Given the description of an element on the screen output the (x, y) to click on. 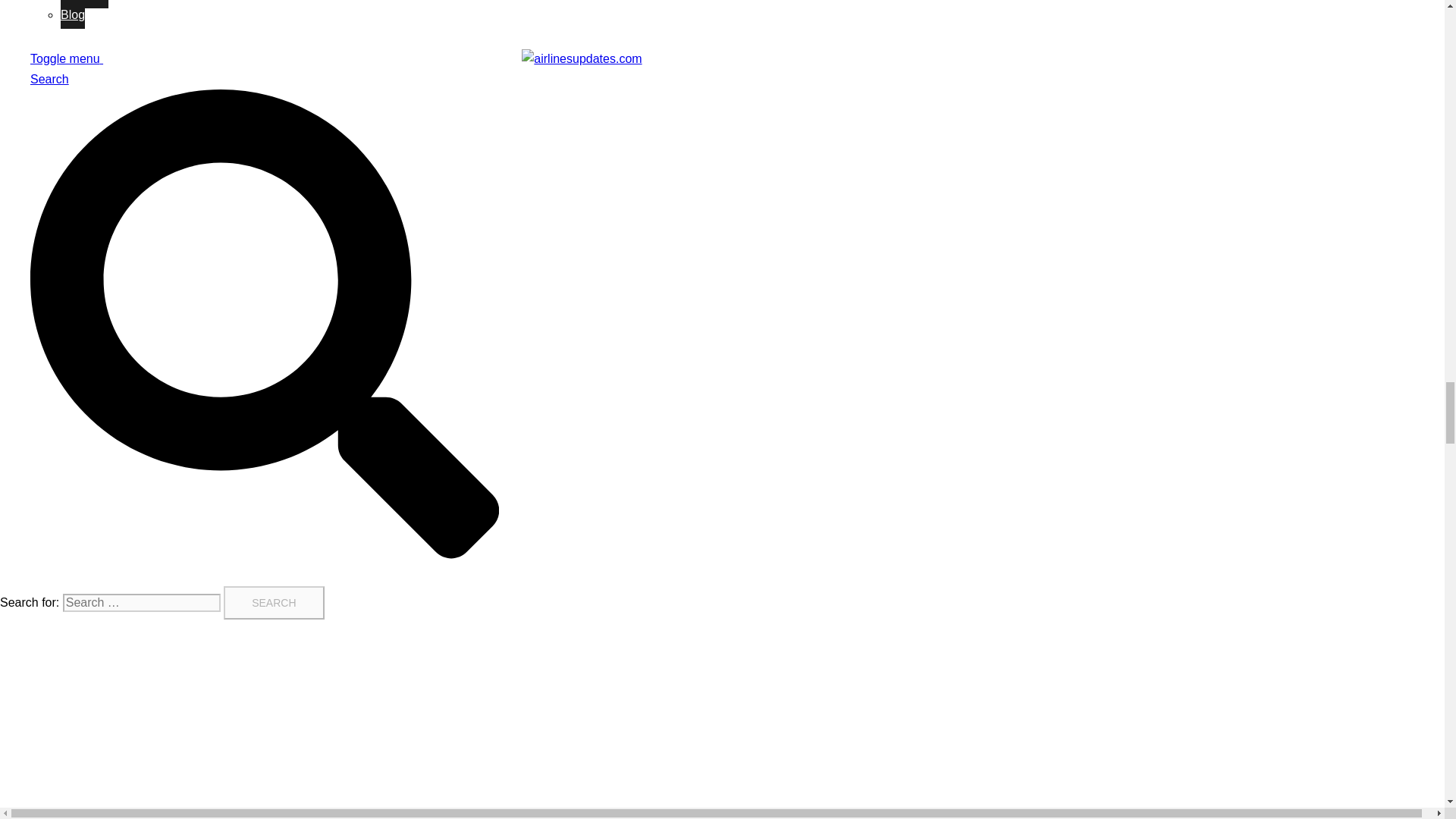
Search (273, 602)
airlinesupdates.com (581, 58)
Search (273, 602)
Search (273, 602)
Check In (84, 4)
Toggle menu (72, 58)
